Given the description of an element on the screen output the (x, y) to click on. 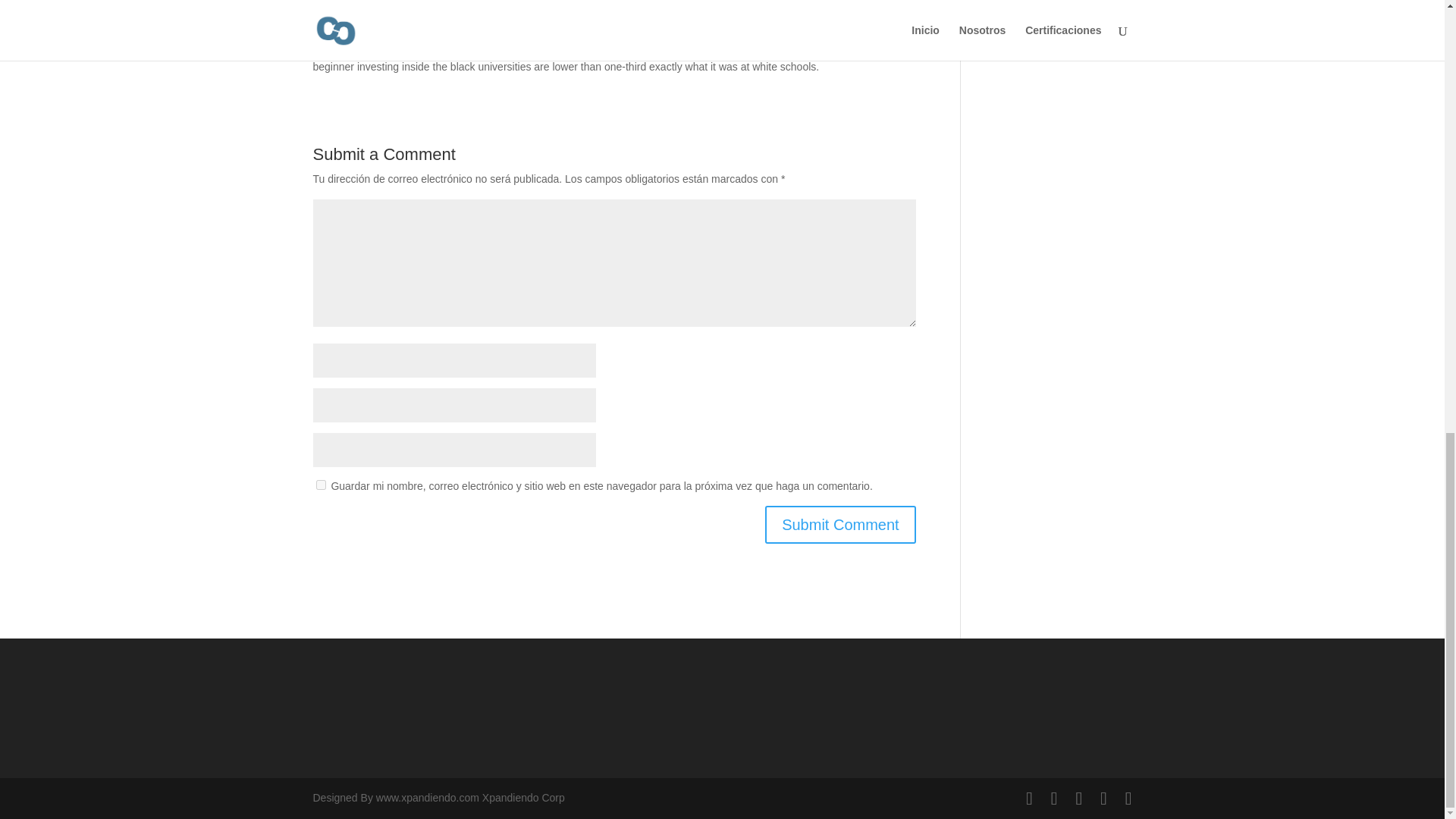
Submit Comment (840, 524)
yes (319, 484)
Submit Comment (840, 524)
